Given the description of an element on the screen output the (x, y) to click on. 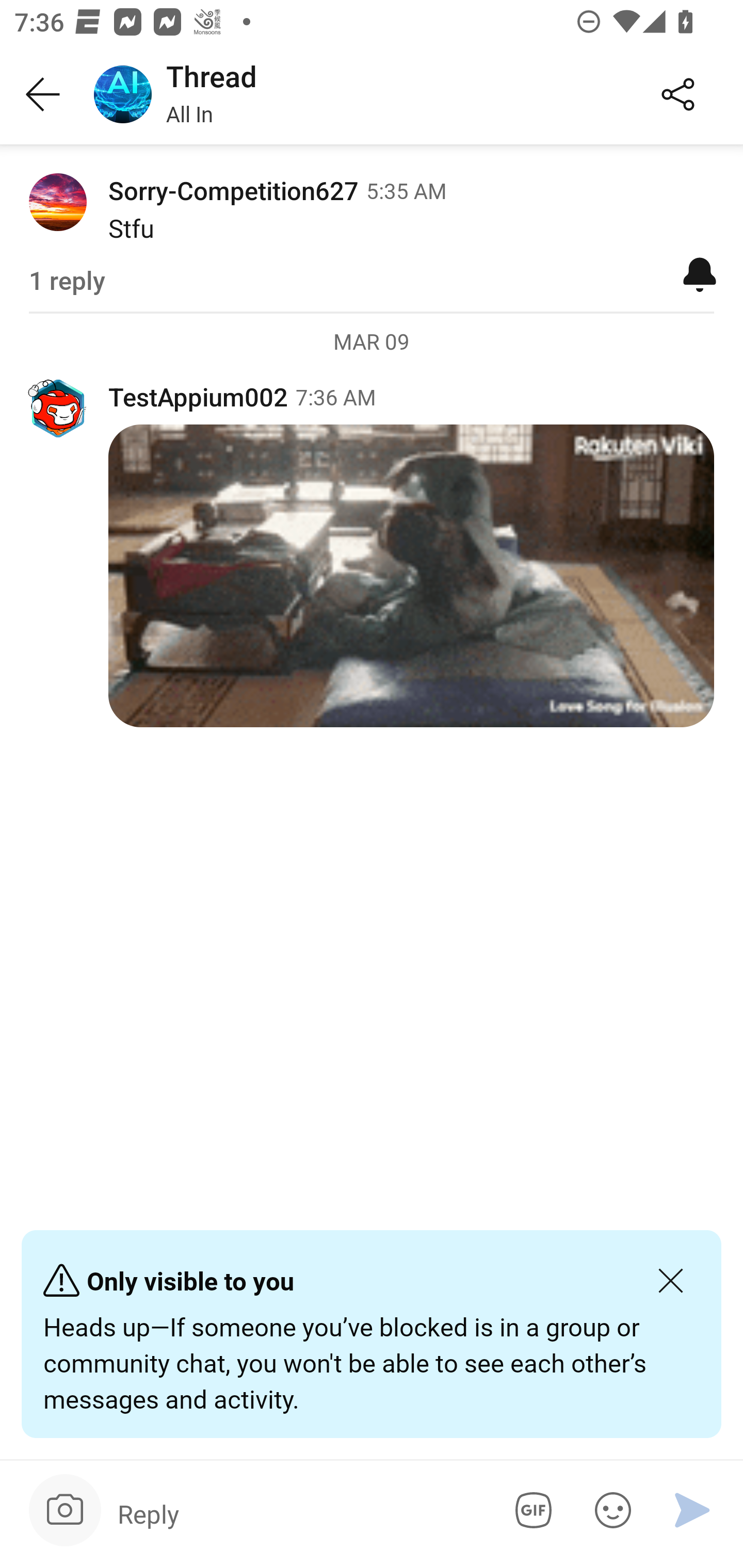
Back (43, 94)
Share (677, 94)
Mute (699, 273)
An image message (411, 575)
Upload image (64, 1510)
Add GIF (529, 1510)
Add sticker (609, 1510)
Send message (692, 1510)
Message Reply (298, 1513)
